Given the description of an element on the screen output the (x, y) to click on. 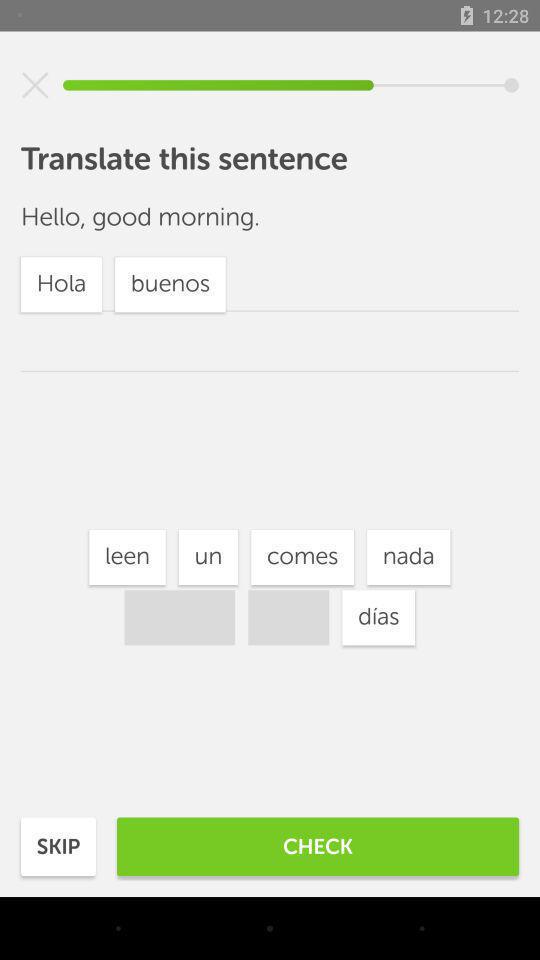
select icon next to the un item (127, 557)
